Given the description of an element on the screen output the (x, y) to click on. 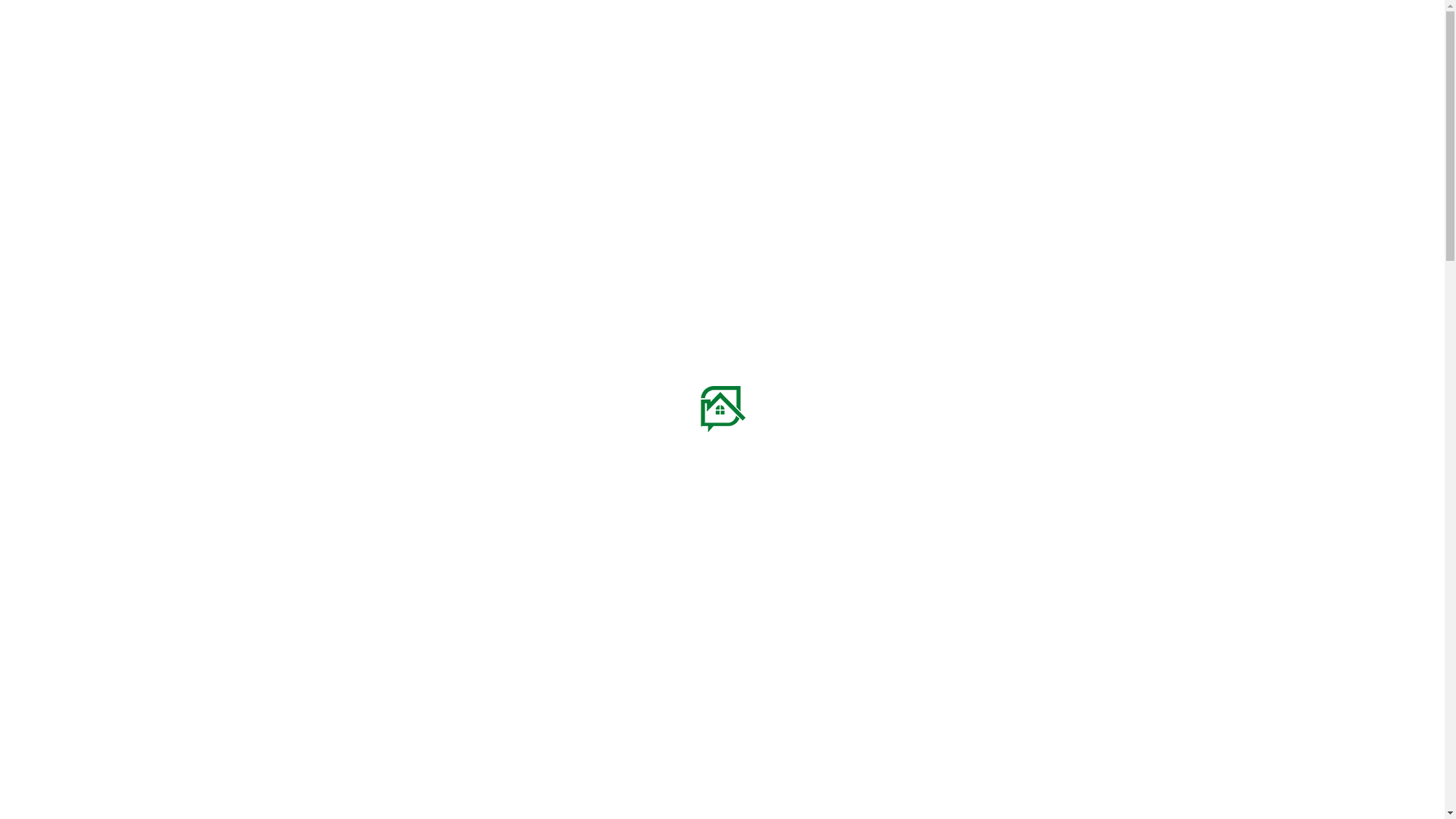
EVENTS Element type: text (914, 83)
AGB Element type: text (840, 11)
TRAINING Element type: text (856, 83)
PAKETE & PREISE Element type: text (771, 83)
Menu Element type: text (1201, 83)
365immo Element type: text (806, 729)
DATENSCHUTZ Element type: text (787, 11)
365IMMO FUNKTIONEN Element type: text (656, 83)
TERMS OF USE Element type: text (896, 11)
TWITTER Element type: text (242, 12)
VORTEILE Element type: text (562, 83)
OPEN HOUSE DEMO DAYS Element type: text (1008, 83)
IMPRESSUM Element type: text (718, 11)
KONTAKT Element type: text (1105, 83)
search Element type: text (1169, 83)
LINKEDIN Element type: text (286, 12)
FACEBOOK Element type: text (262, 12)
